Given the description of an element on the screen output the (x, y) to click on. 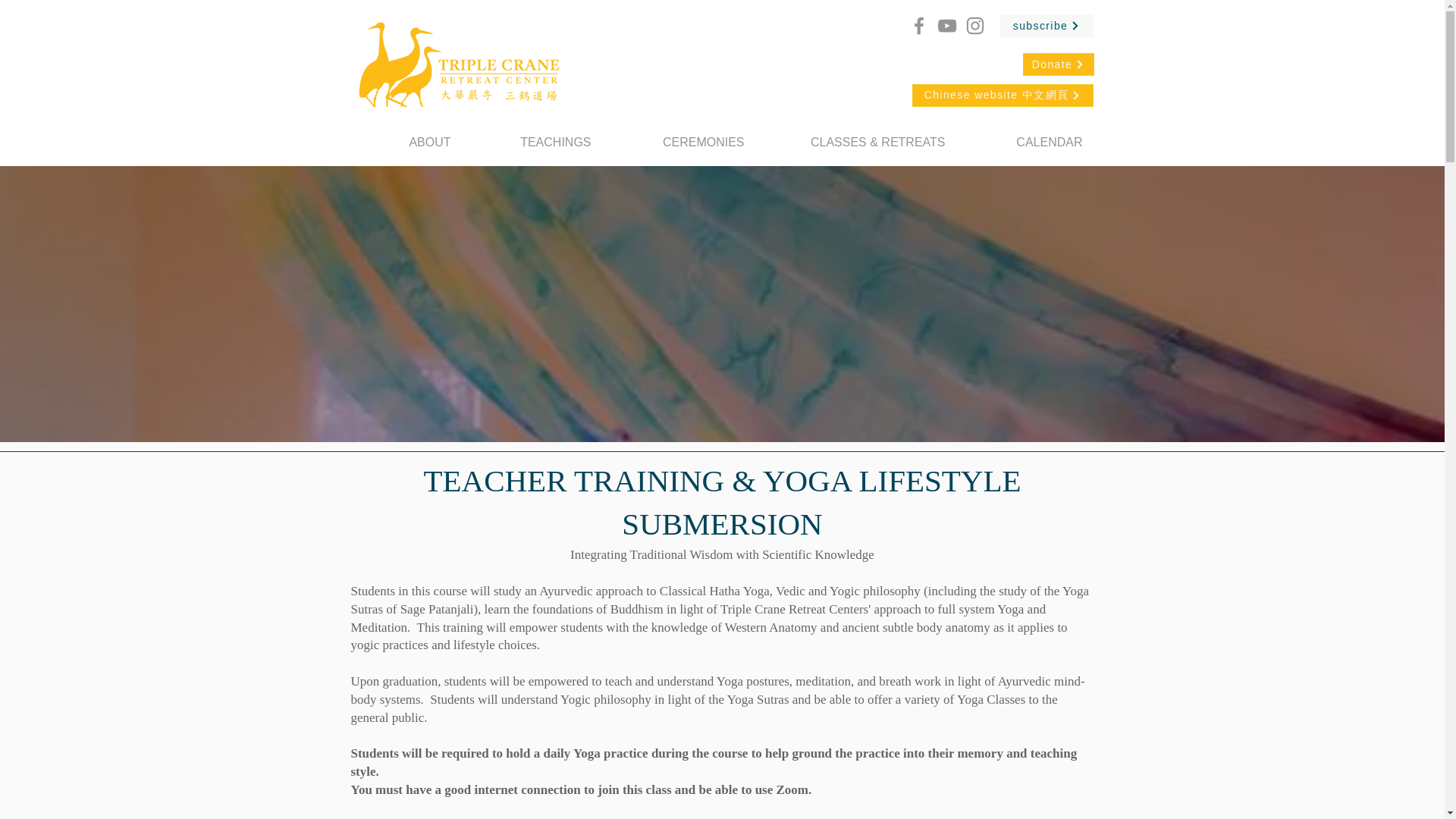
Donate (1057, 64)
subscribe (1045, 25)
